Given the description of an element on the screen output the (x, y) to click on. 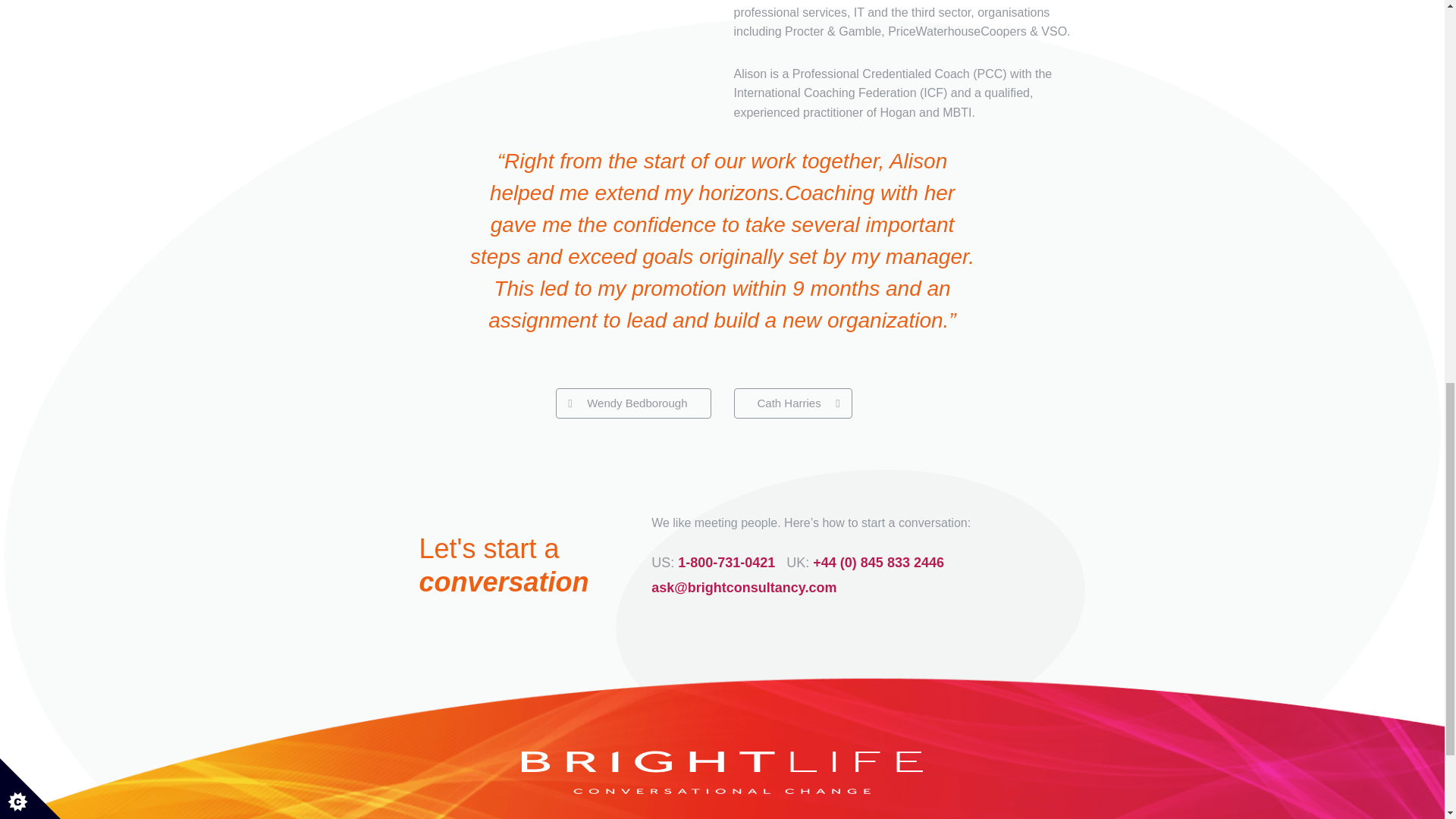
Wendy Bedborough (633, 394)
Cath Harries (792, 394)
1-800-731-0421 (726, 553)
